Given the description of an element on the screen output the (x, y) to click on. 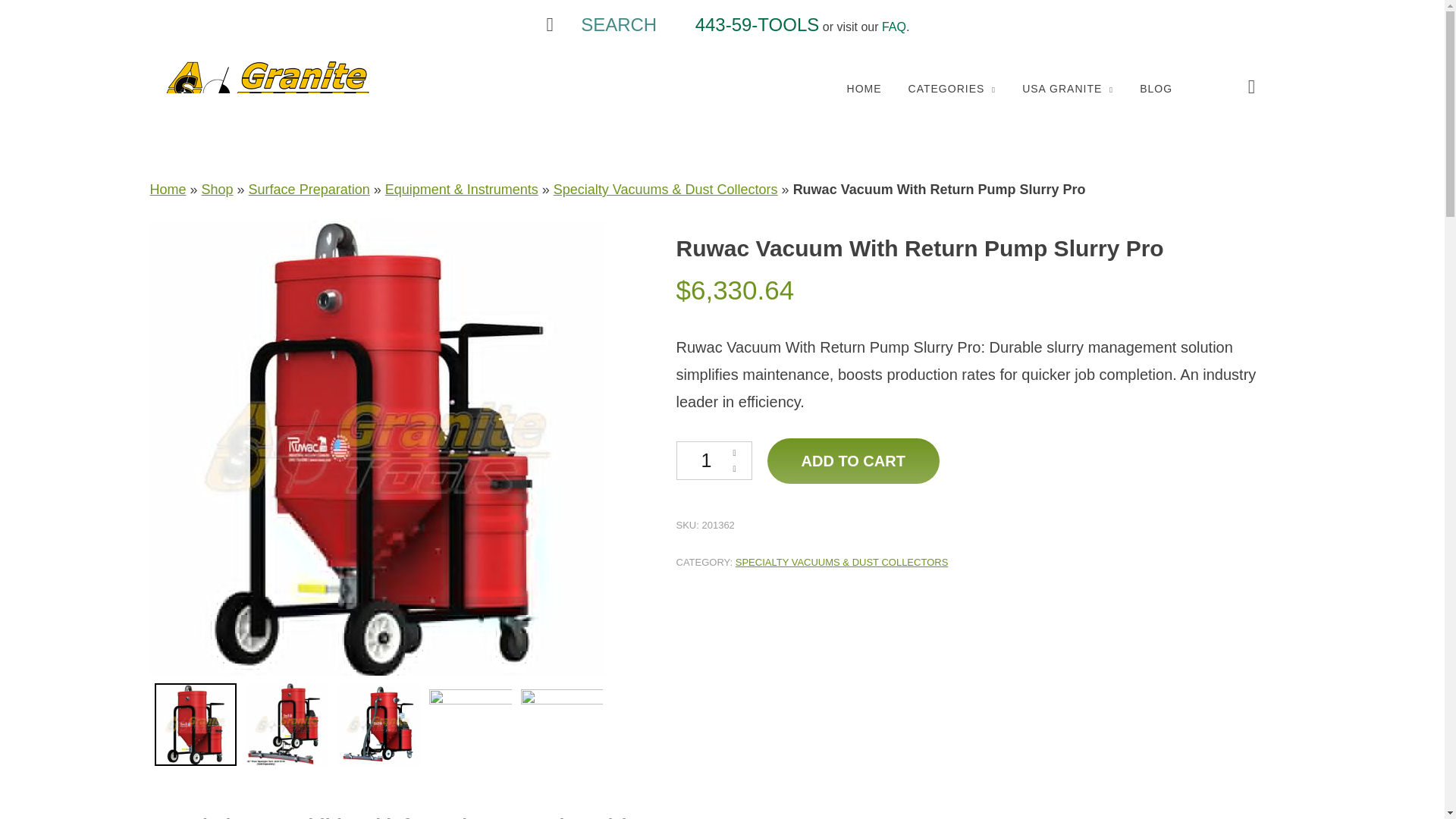
Home (167, 189)
BLOG (1156, 89)
CATEGORIES (951, 89)
RVRPSP-PI (195, 727)
RVRPSP-PG4 (562, 730)
Surface Preparation (308, 189)
RVRPSP-PG2 (378, 727)
RVRPSP-PG3 (470, 730)
RVRPSP-PG (287, 727)
